Given the description of an element on the screen output the (x, y) to click on. 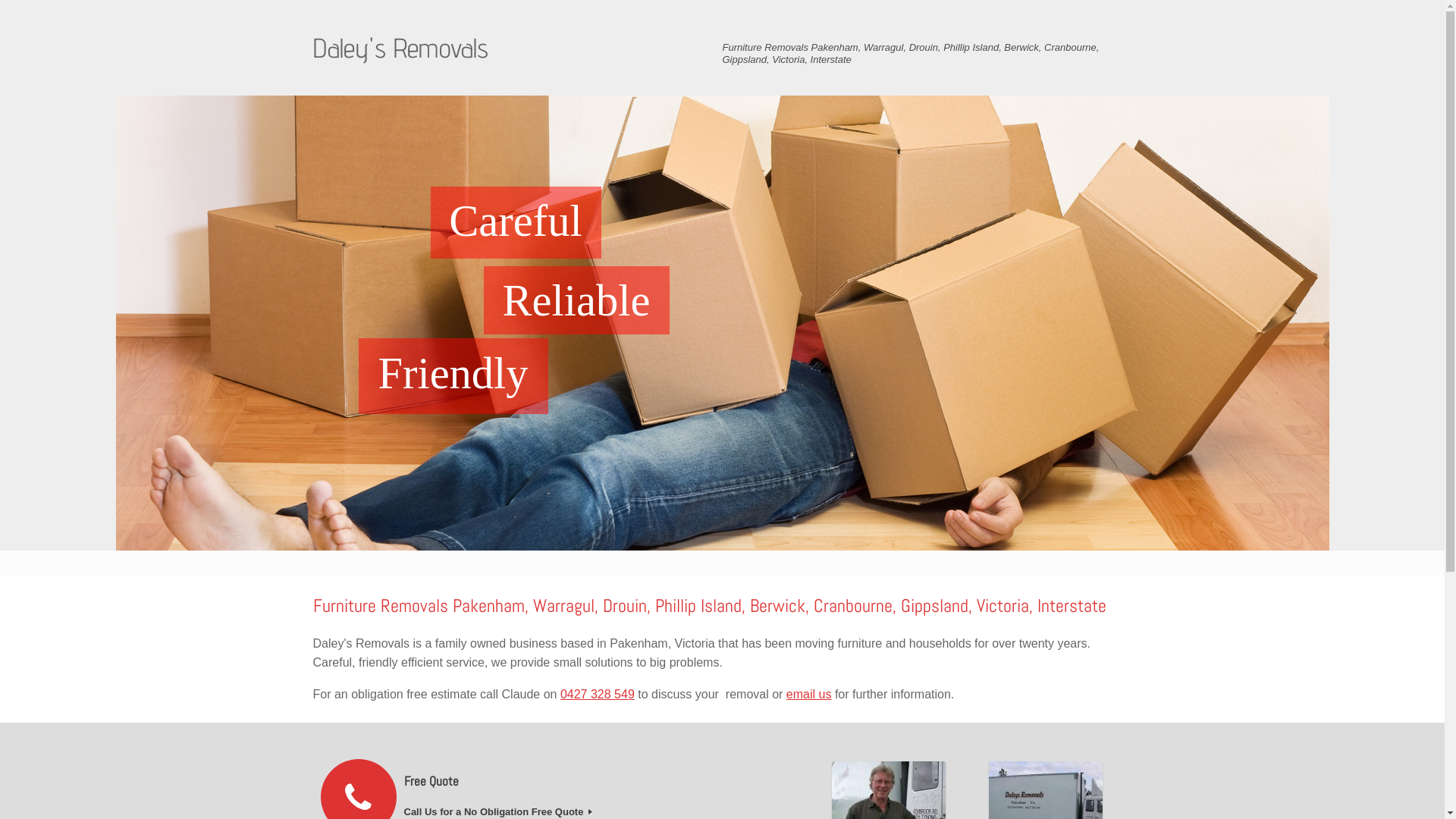
email us Element type: text (808, 693)
Daley's Removals Element type: text (399, 47)
0427 328 549 Element type: text (597, 693)
Free Quote Element type: text (600, 781)
